Given the description of an element on the screen output the (x, y) to click on. 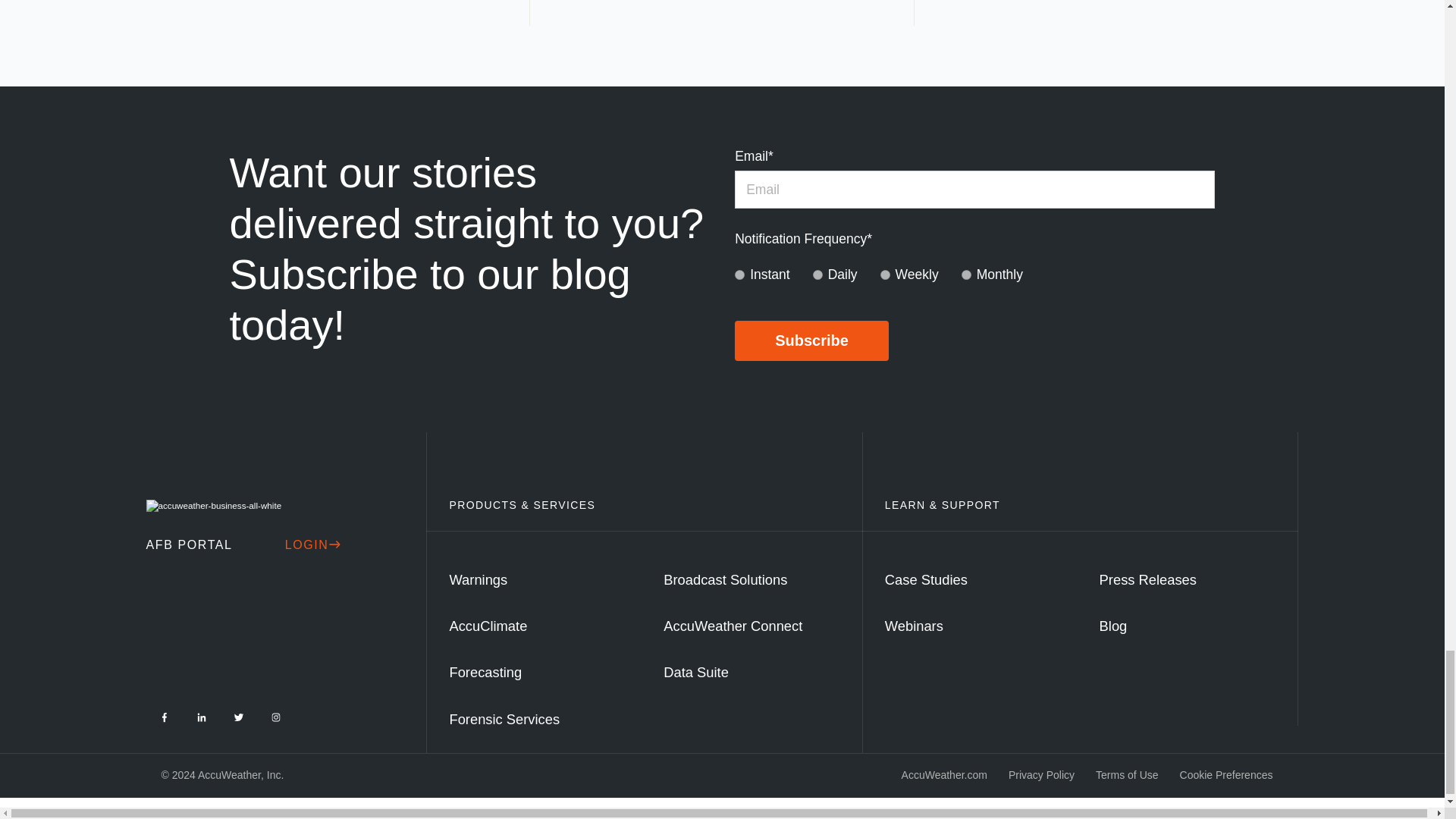
Subscribe (811, 341)
instant (739, 275)
daily (817, 275)
accuweather-business-all-white (213, 505)
weekly (884, 275)
monthly (965, 275)
